Given the description of an element on the screen output the (x, y) to click on. 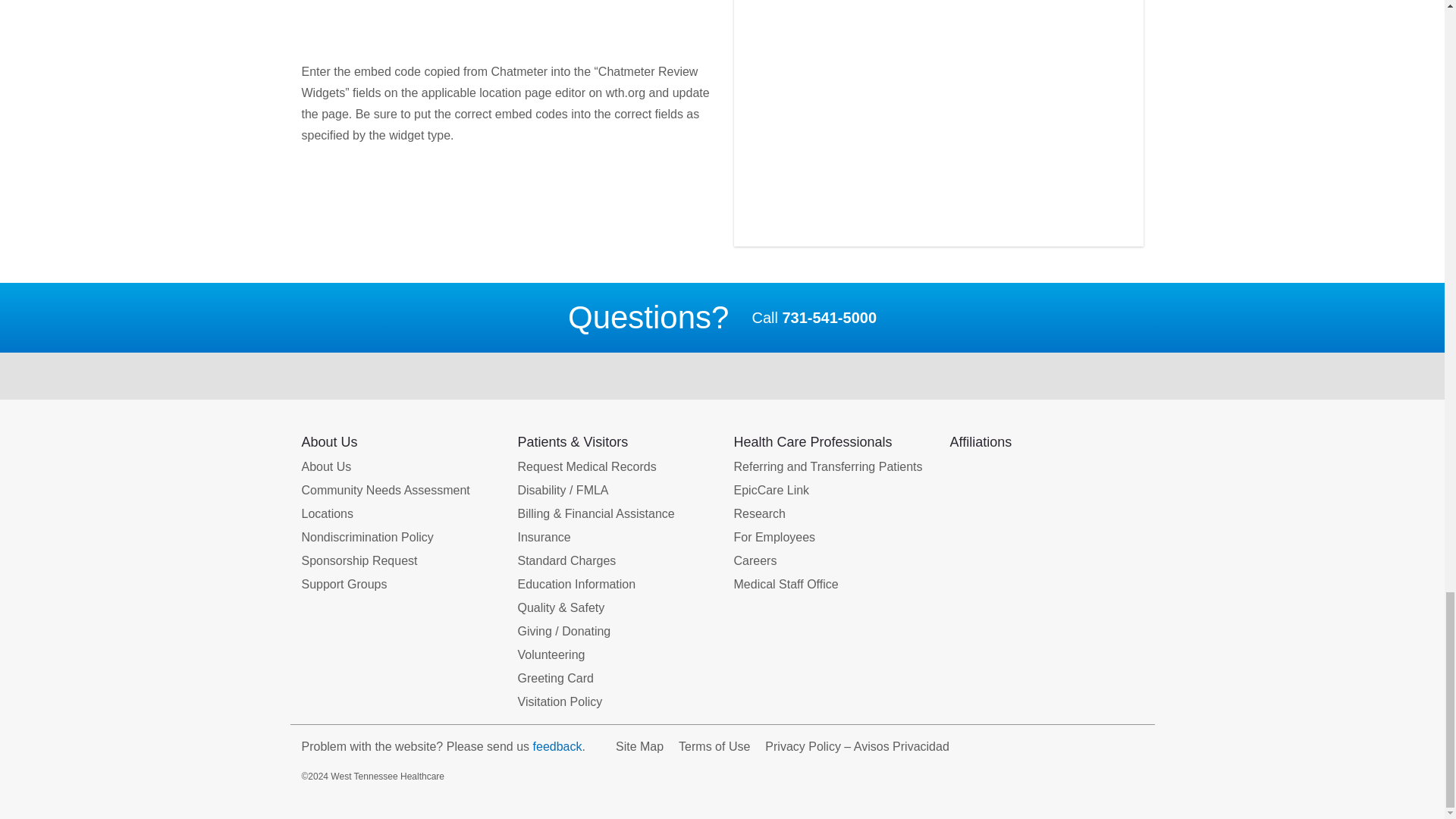
731-541-5000 (828, 317)
Sponsorship Request (359, 560)
About Us (326, 466)
Community Needs Assessment (385, 490)
Support Groups (344, 584)
Standard Charges (565, 560)
Education Information (575, 584)
Insurance (543, 537)
Nondiscrimination Policy (367, 537)
Request Medical Records (586, 466)
